Given the description of an element on the screen output the (x, y) to click on. 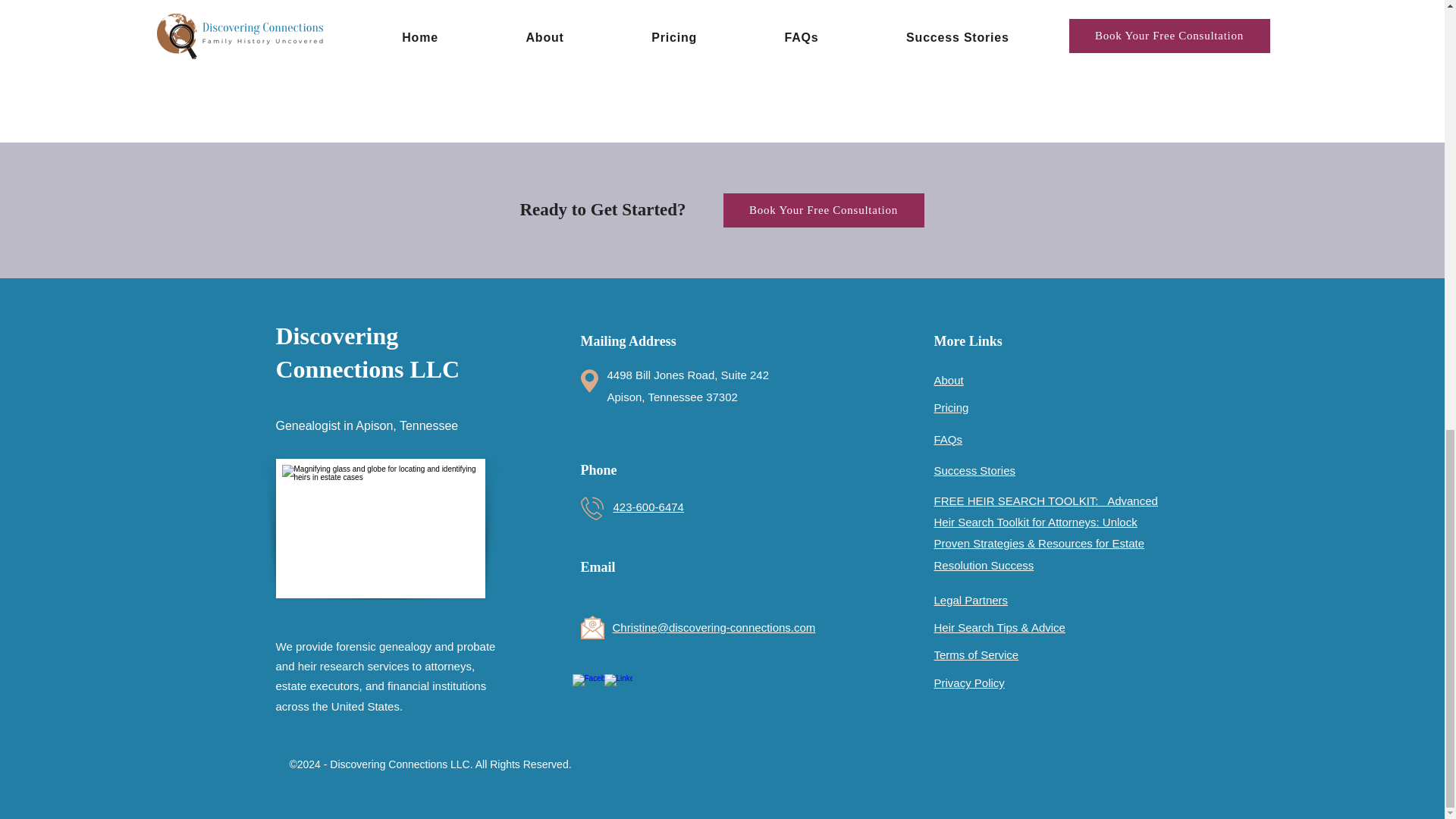
Privacy Policy (969, 682)
Legal Partners (971, 599)
About (948, 379)
Pricing (951, 407)
FAQs (948, 439)
Success Stories (975, 470)
423-600-6474 (647, 506)
Terms of Service (976, 654)
Book Your Free Consultation (823, 210)
